Given the description of an element on the screen output the (x, y) to click on. 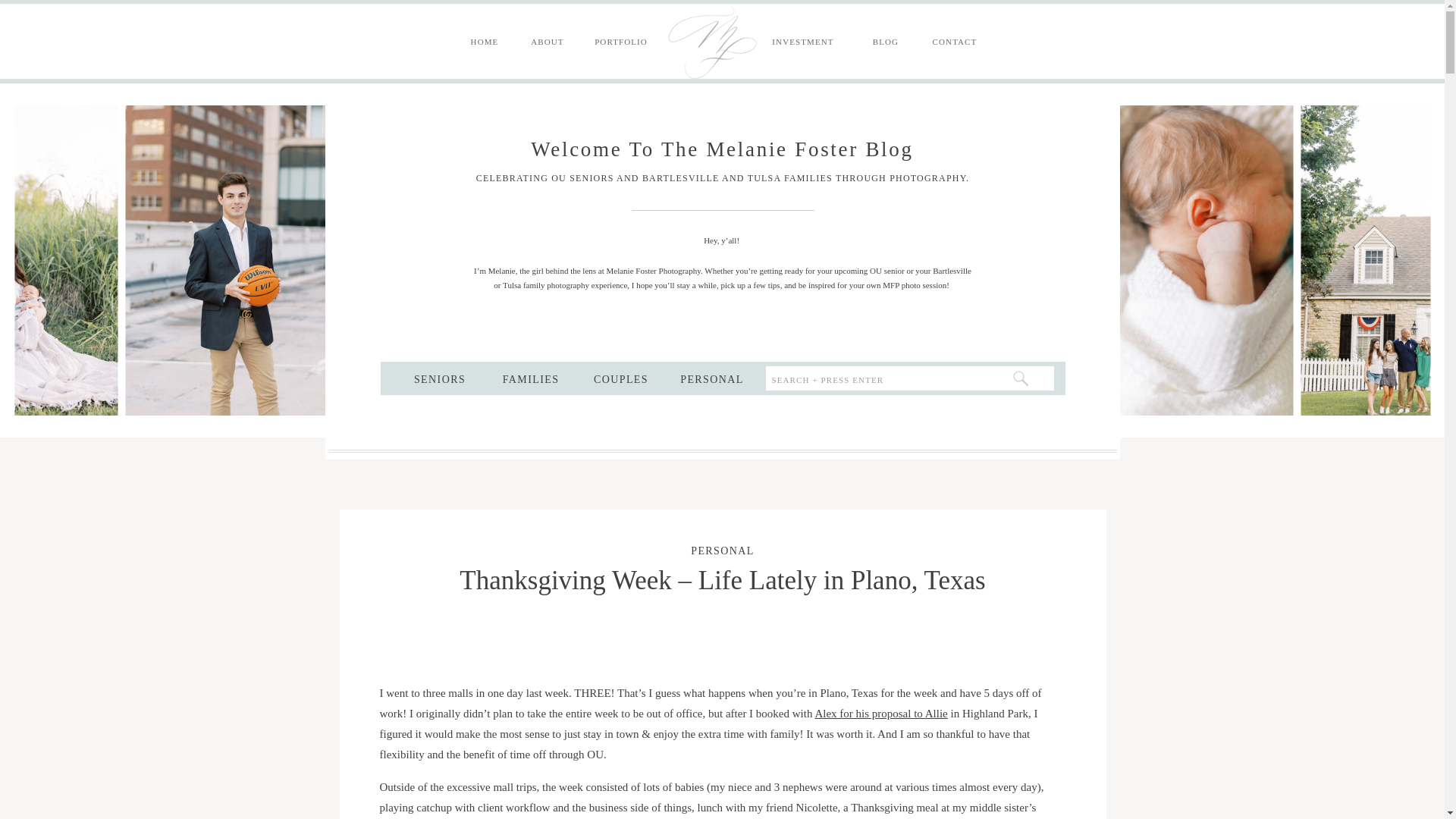
INVESTMENT (803, 42)
PORTFOLIO (620, 42)
Alex for his proposal to Allie (880, 713)
CONTACT (954, 42)
SENIORS (439, 378)
FAMILIES (530, 378)
BLOG (885, 42)
PERSONAL (722, 550)
COUPLES (621, 378)
PERSONAL (712, 378)
HOME (484, 42)
ABOUT (546, 42)
